Given the description of an element on the screen output the (x, y) to click on. 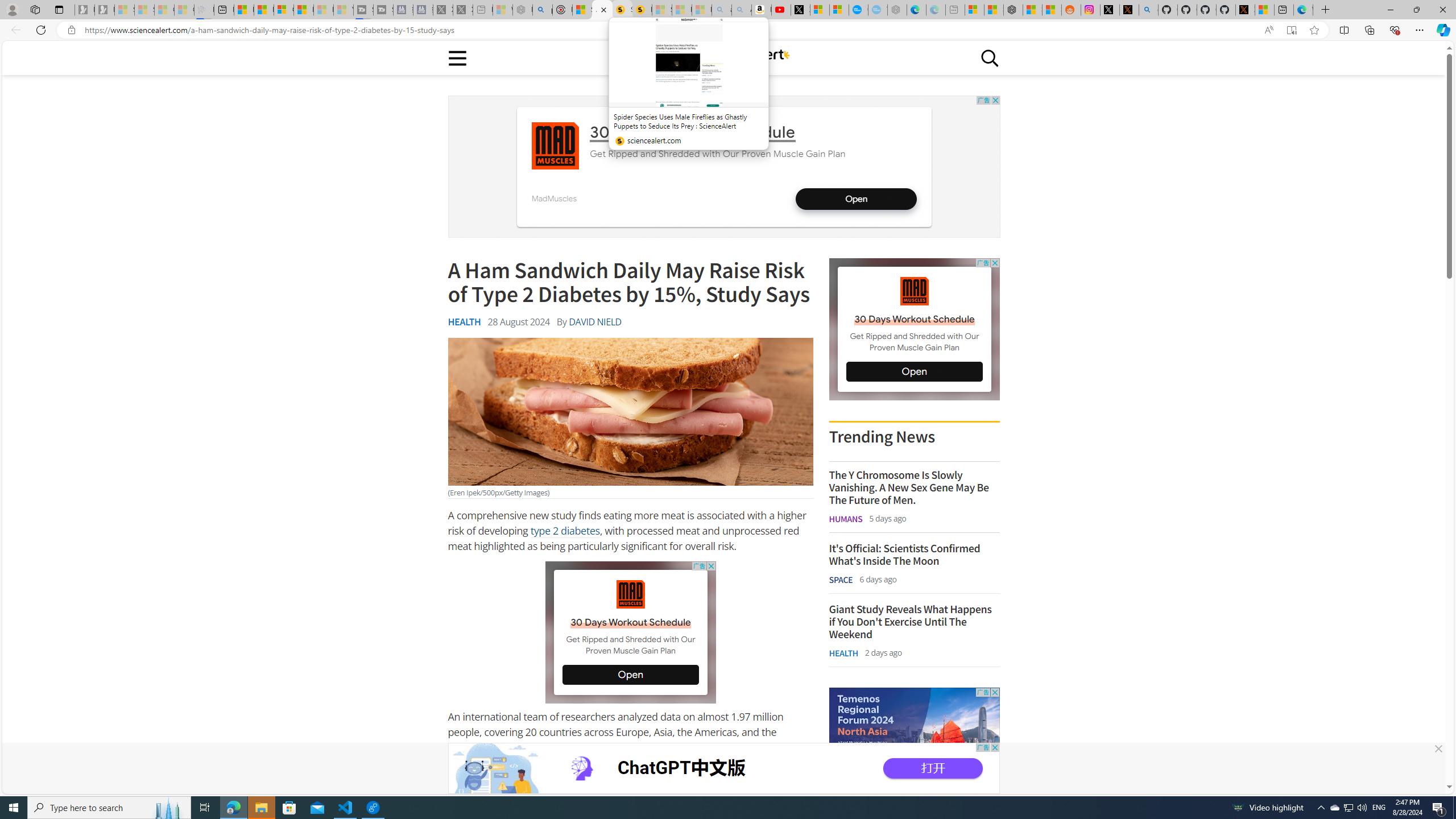
DAVID NIELD (595, 321)
Day 1: Arriving in Yemen (surreal to be here) - YouTube (780, 9)
amazon - Search - Sleeping (721, 9)
It's Official: Scientists Confirmed What's Inside The Moon (914, 554)
Microsoft Start - Sleeping (322, 9)
 processed meat (532, 785)
